Given the description of an element on the screen output the (x, y) to click on. 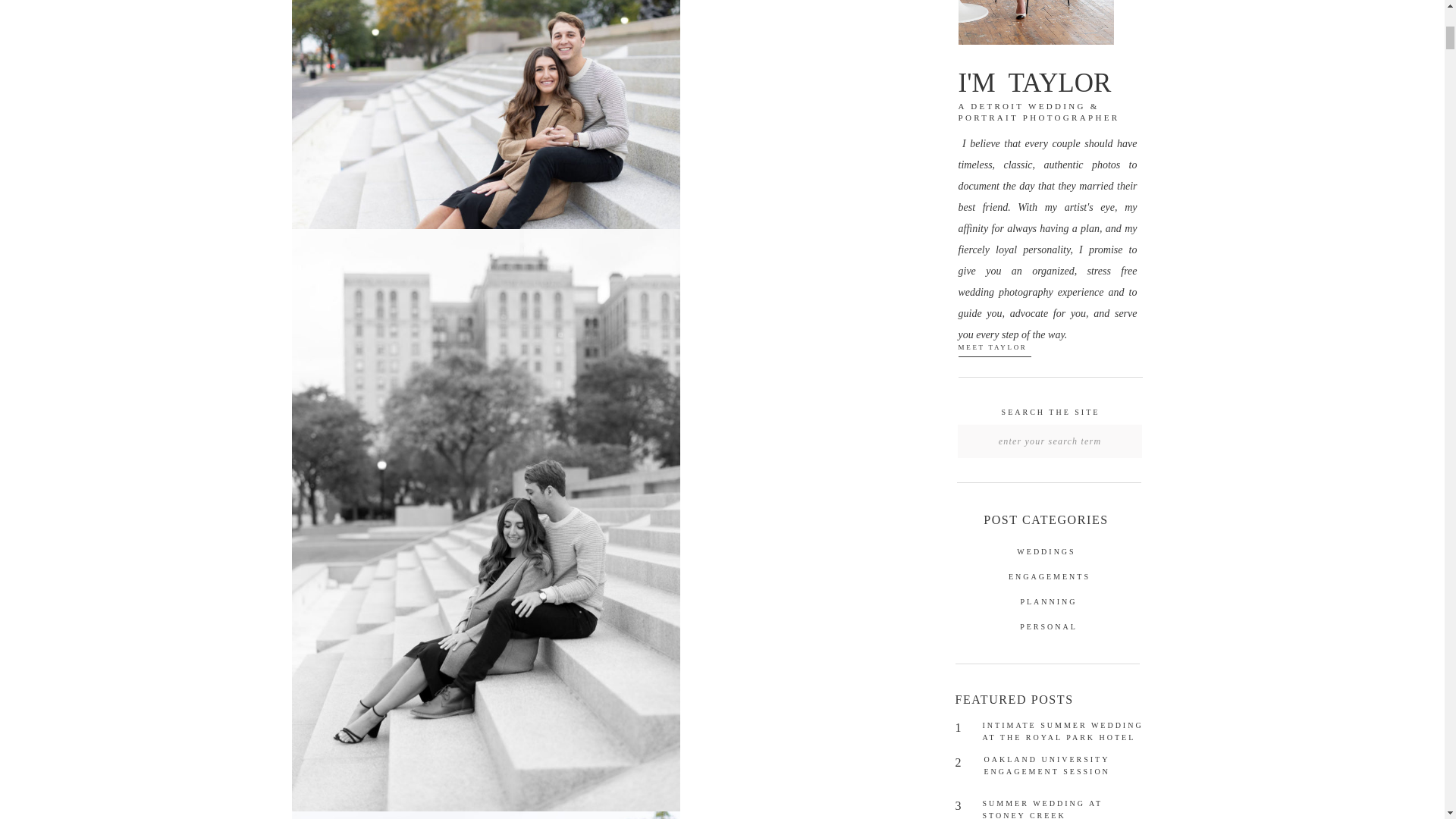
3 (965, 807)
SUMMER WEDDING AT STONEY CREEK METROPARK (1059, 808)
2 (965, 764)
ENGAGEMENTS (1048, 577)
1 (965, 729)
PLANNING (1048, 603)
WEDDINGS (1046, 551)
MEET TAYLOR (1046, 352)
OAKLAND UNIVERSITY ENGAGEMENT SESSION (1061, 768)
INTIMATE SUMMER WEDDING AT THE ROYAL PARK HOTEL (1065, 734)
